Given the description of an element on the screen output the (x, y) to click on. 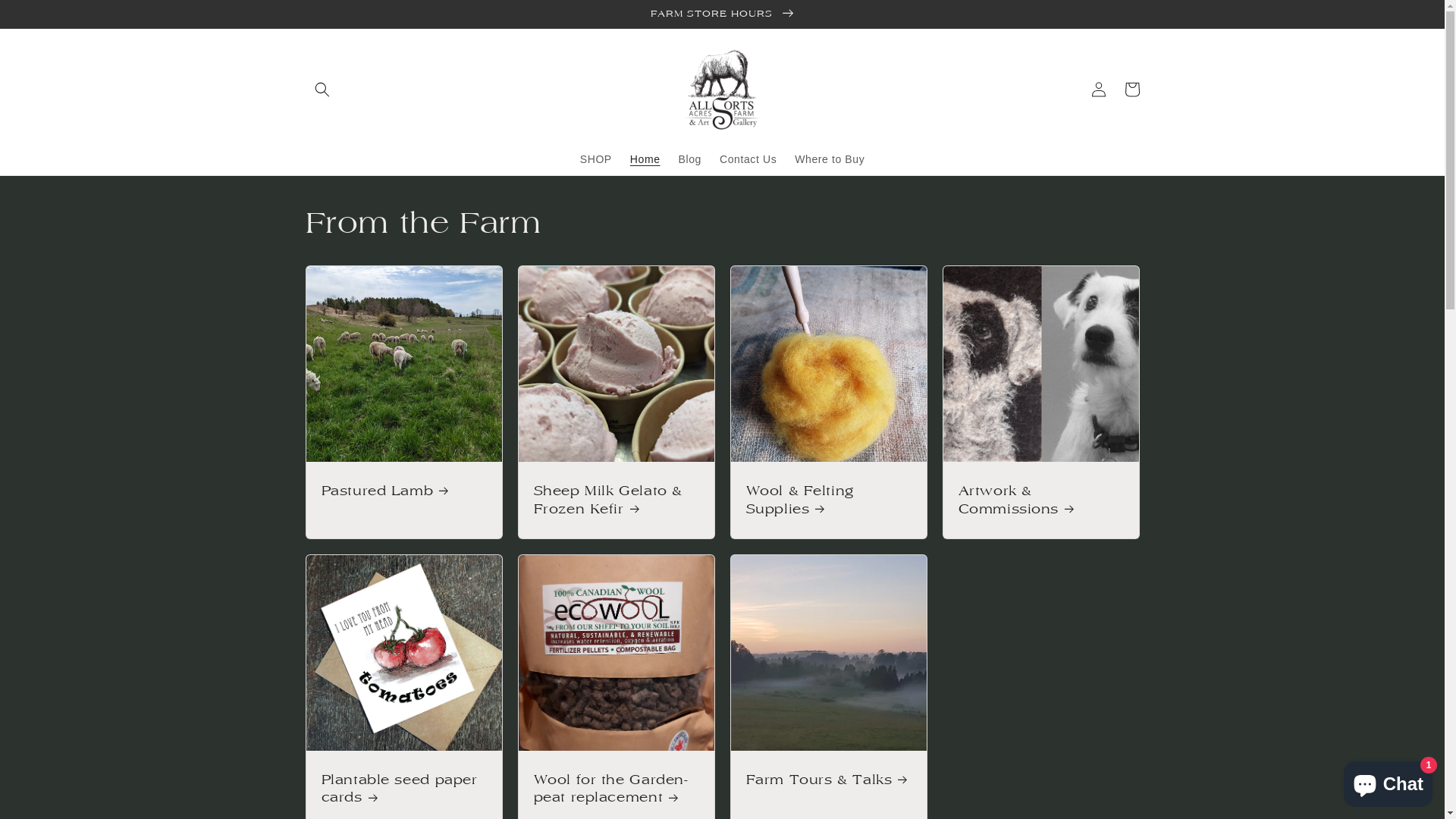
Cart Element type: text (1131, 89)
Wool & Felting Supplies Element type: text (828, 499)
Log in Element type: text (1097, 89)
Shopify online store chat Element type: hover (1388, 780)
Plantable seed paper cards Element type: text (403, 788)
Artwork & Commissions Element type: text (1040, 499)
Contact Us Element type: text (747, 159)
FARM STORE HOURS Element type: text (722, 14)
Where to Buy Element type: text (829, 159)
Sheep Milk Gelato & Frozen Kefir Element type: text (616, 499)
Pastured Lamb Element type: text (403, 490)
Wool for the Garden- peat replacement Element type: text (616, 788)
Home Element type: text (645, 159)
Blog Element type: text (689, 159)
SHOP Element type: text (596, 159)
Farm Tours & Talks Element type: text (828, 779)
